Given the description of an element on the screen output the (x, y) to click on. 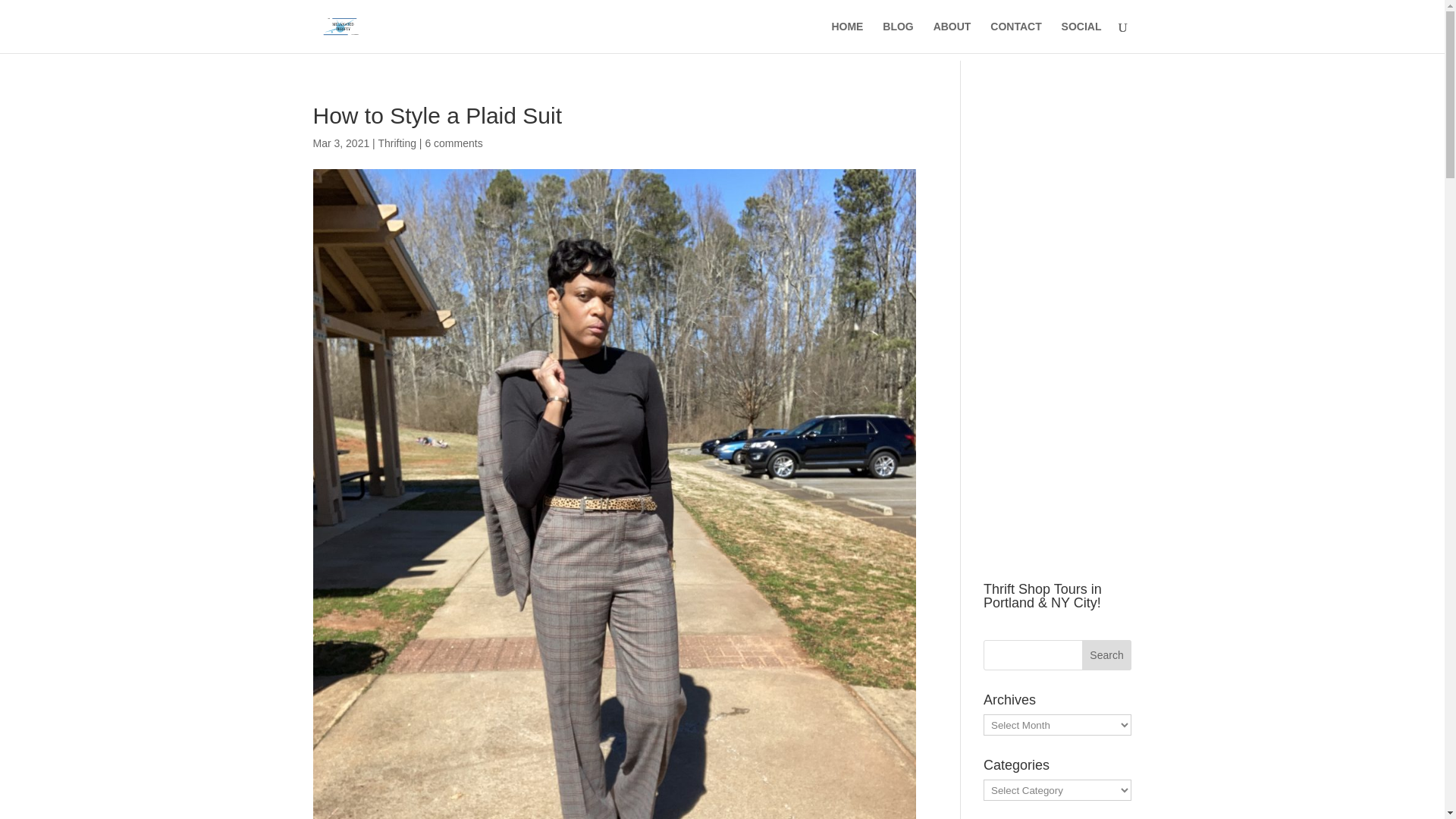
HOME (847, 37)
SOCIAL (1081, 37)
6 comments (453, 143)
Search (1106, 654)
Thrifting (396, 143)
Search (1106, 654)
BLOG (897, 37)
ABOUT (952, 37)
CONTACT (1015, 37)
